Given the description of an element on the screen output the (x, y) to click on. 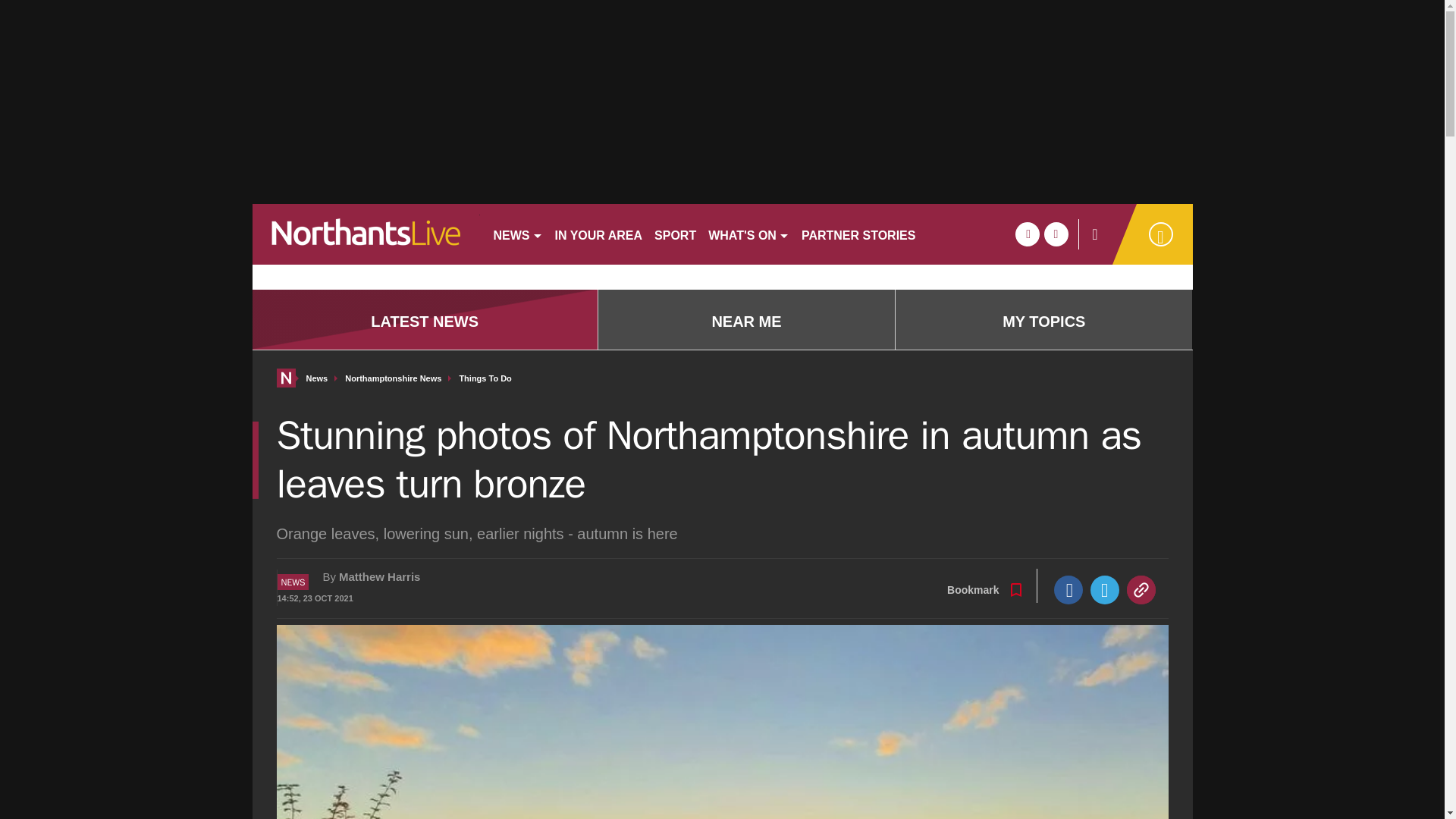
Facebook (1068, 589)
NEWS (517, 233)
northantslive (365, 233)
Northamptonshire News (393, 378)
Things To Do (484, 378)
twitter (1055, 233)
facebook (1026, 233)
News (317, 378)
PARTNER STORIES (857, 233)
NEAR ME (746, 320)
IN YOUR AREA (598, 233)
WHAT'S ON (747, 233)
Home (285, 377)
Twitter (1104, 589)
MY TOPICS (1043, 320)
